Given the description of an element on the screen output the (x, y) to click on. 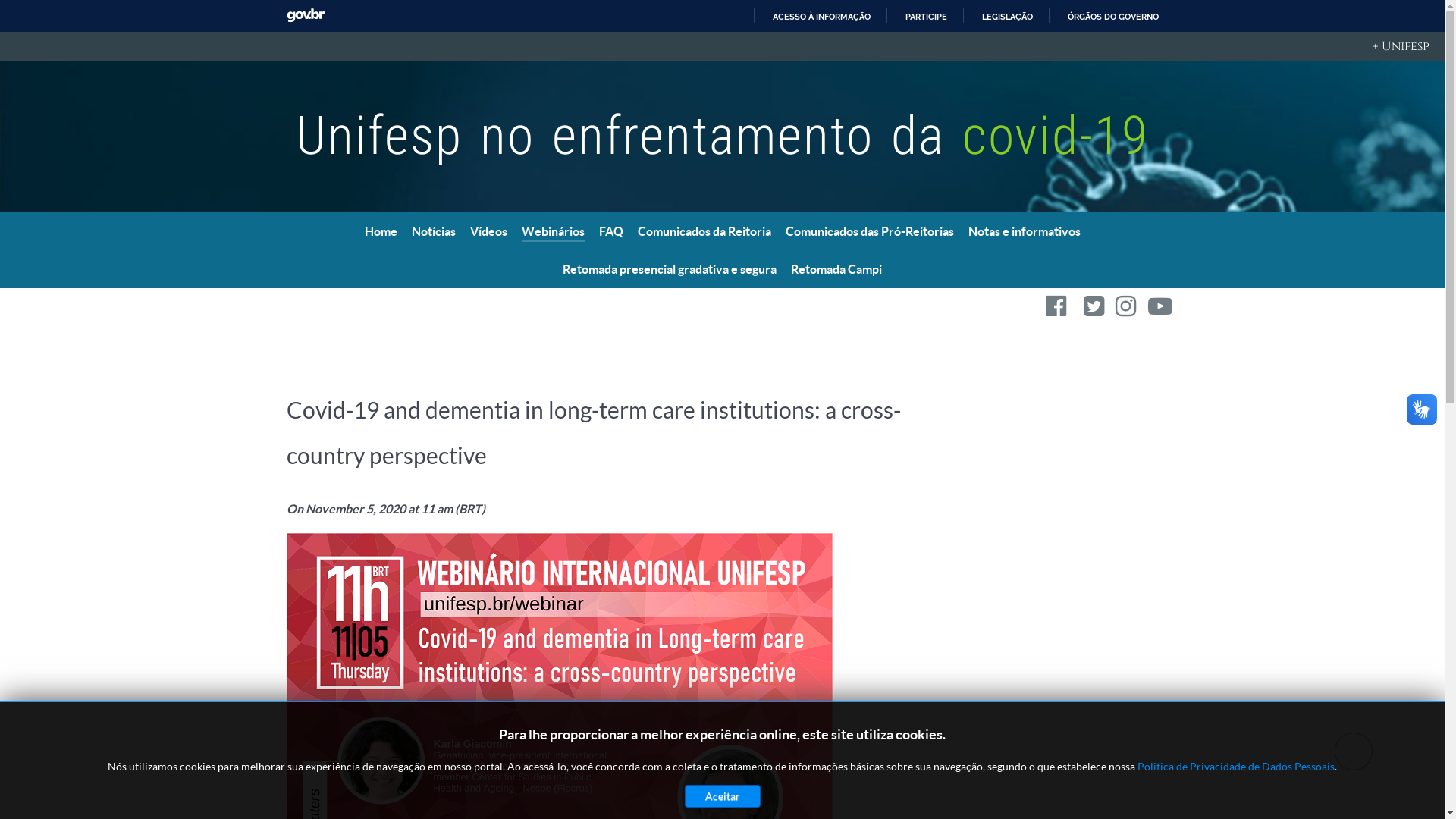
+ Unifesp Element type: text (722, 45)
Instagram Element type: hover (1126, 309)
Retomada Campi Element type: text (835, 270)
Notas e informativos Element type: text (1023, 232)
Youtube Element type: hover (1160, 309)
Comunicados da Reitoria Element type: text (703, 232)
FAQ Element type: text (611, 232)
Retomada presencial gradativa e segura Element type: text (669, 270)
Unifesp no enfrentamento da covid-19 Element type: text (721, 135)
 twitter  Element type: hover (1094, 309)
Home Element type: text (380, 232)
Facebook Element type: hover (1056, 309)
GOVBR Element type: text (305, 14)
PARTICIPE Element type: text (918, 16)
Politica de Privacidade de Dados Pessoais Element type: text (1235, 765)
